Given the description of an element on the screen output the (x, y) to click on. 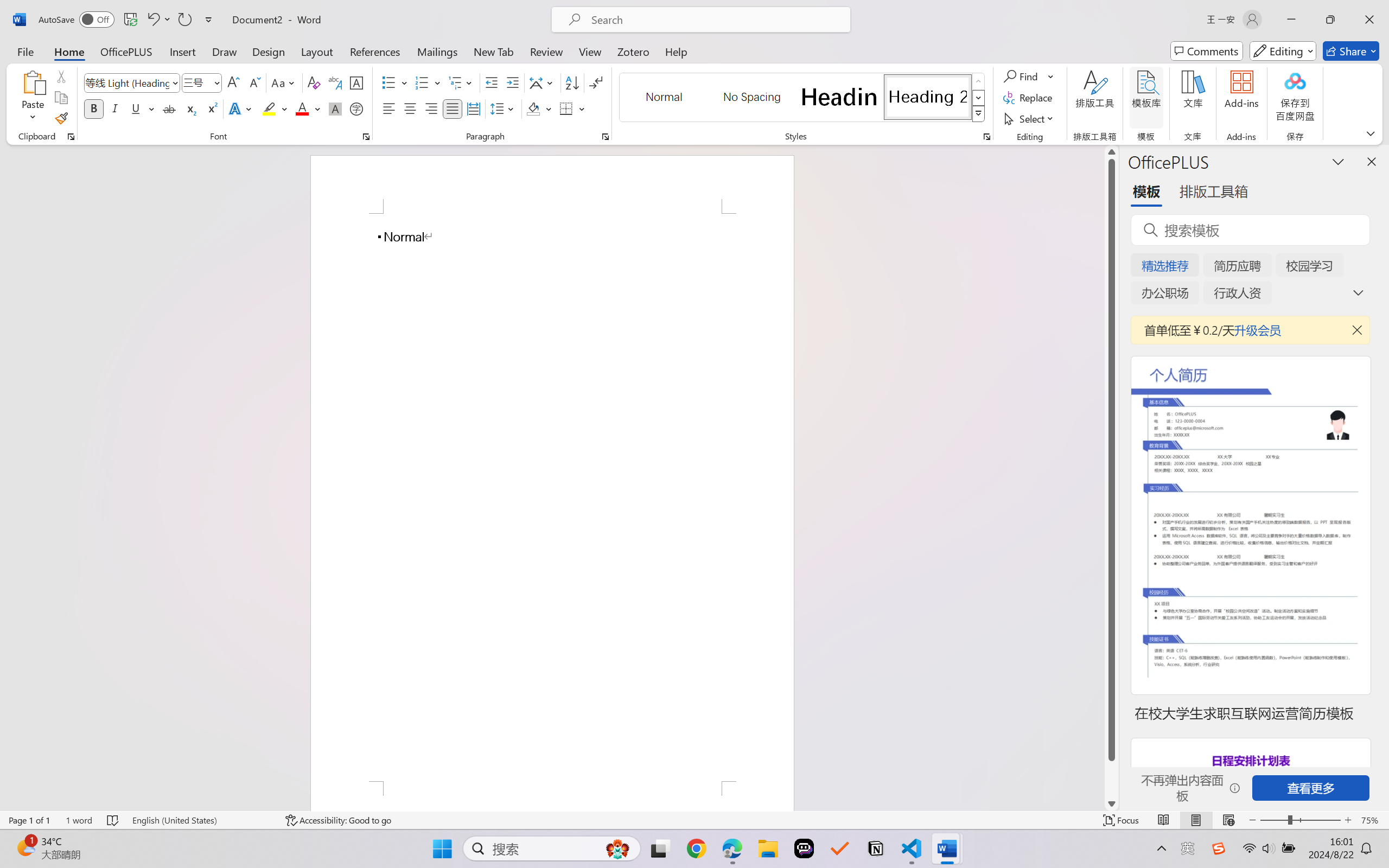
Change Case (284, 82)
Microsoft search (715, 19)
OfficePLUS (126, 51)
Read Mode (1163, 819)
Customize Quick Access Toolbar (208, 19)
Home (69, 51)
AutomationID: BadgeAnchorLargeTicker (24, 847)
Decrease Indent (491, 82)
Spelling and Grammar Check No Errors (113, 819)
References (375, 51)
Show/Hide Editing Marks (595, 82)
Design (268, 51)
Accessibility Checker Accessibility: Good to go (338, 819)
